Given the description of an element on the screen output the (x, y) to click on. 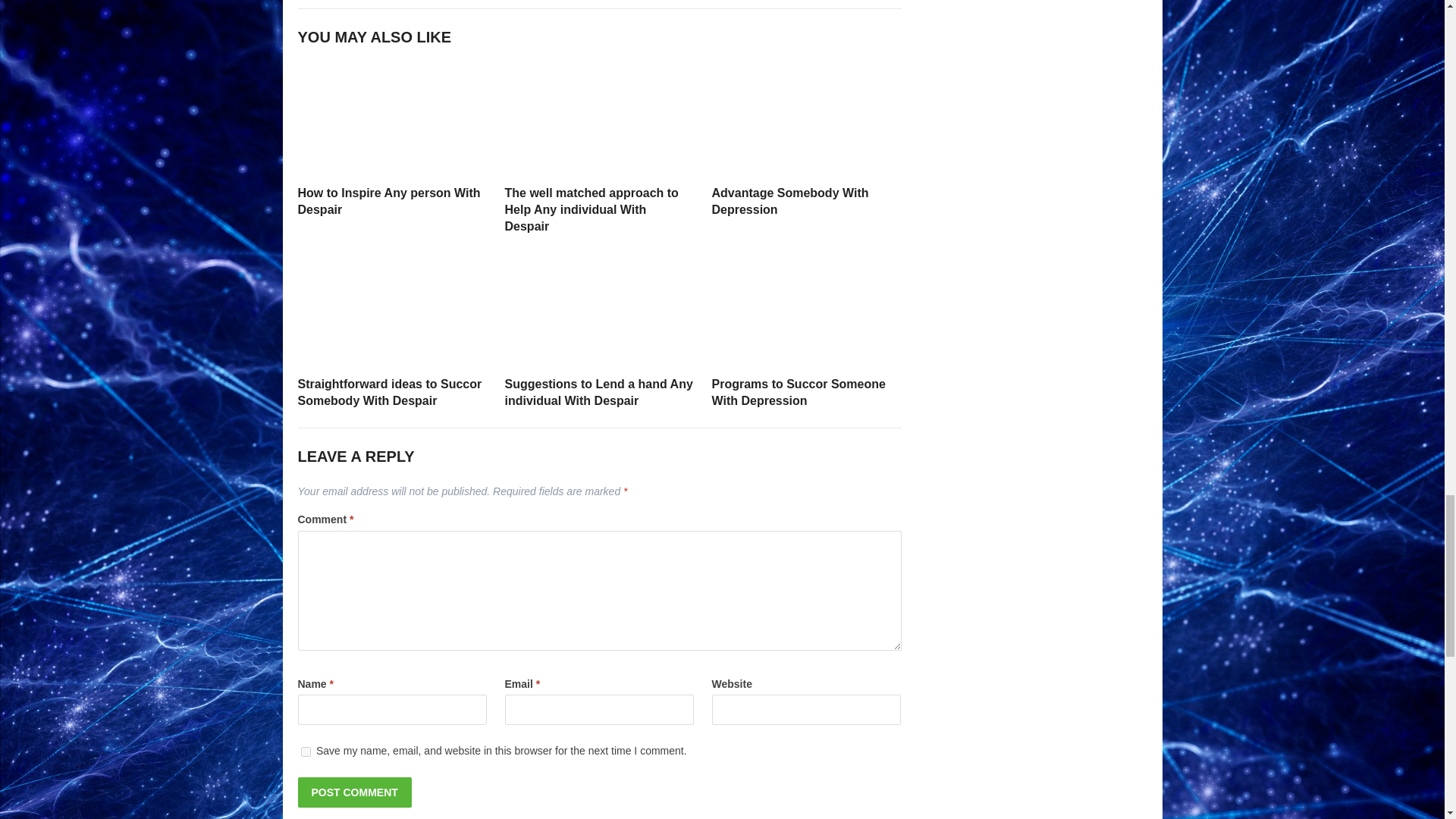
Post Comment (353, 792)
yes (304, 751)
How to Inspire Any person With Despair (388, 201)
